Given the description of an element on the screen output the (x, y) to click on. 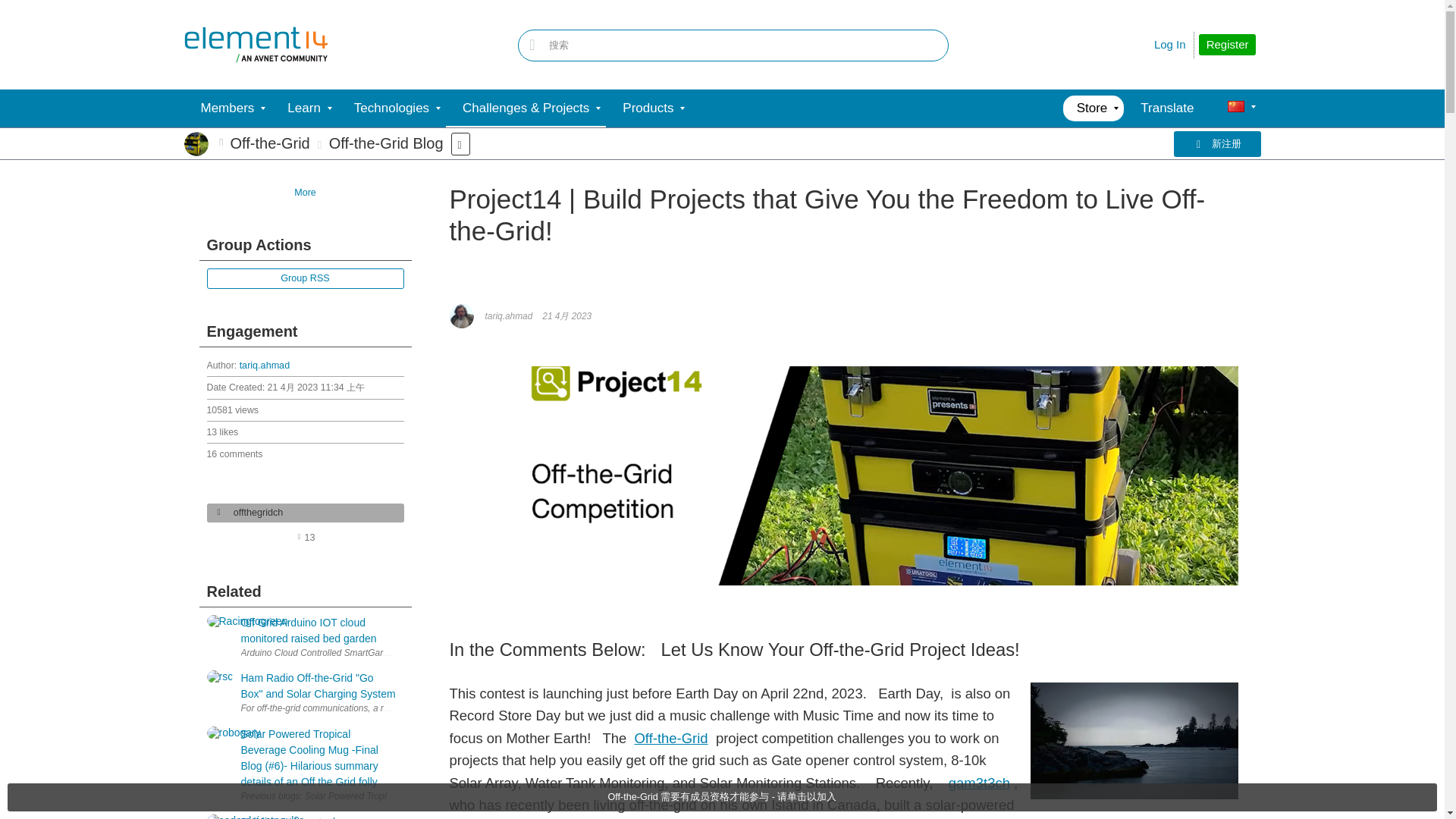
Register (1226, 44)
Log In (1170, 44)
Members (226, 108)
Register (1226, 44)
Learn (303, 108)
Technologies (391, 108)
Log In (1170, 44)
